Given the description of an element on the screen output the (x, y) to click on. 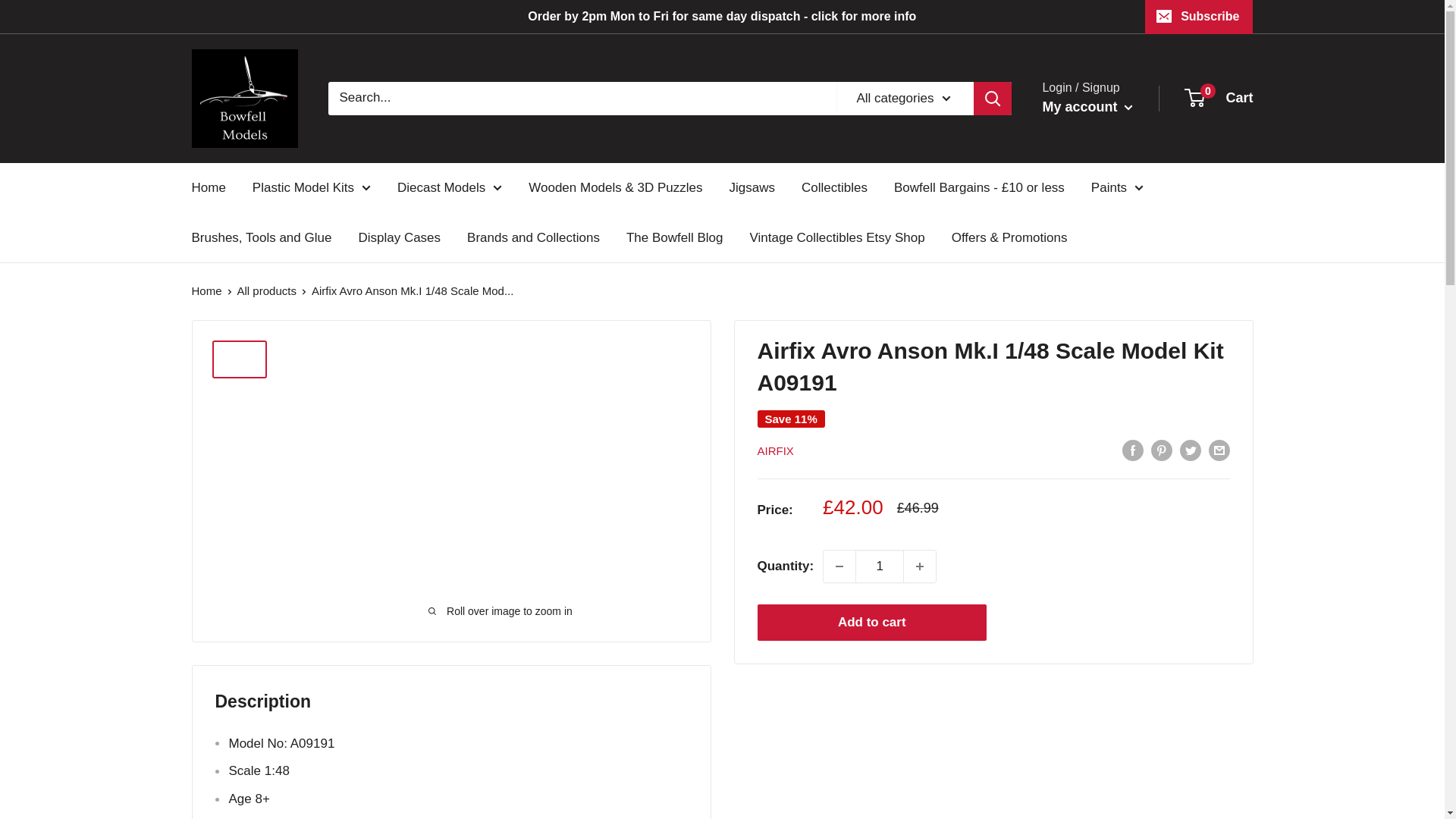
Subscribe (1198, 16)
1 (880, 566)
Decrease quantity by 1 (840, 566)
Increase quantity by 1 (920, 566)
